Given the description of an element on the screen output the (x, y) to click on. 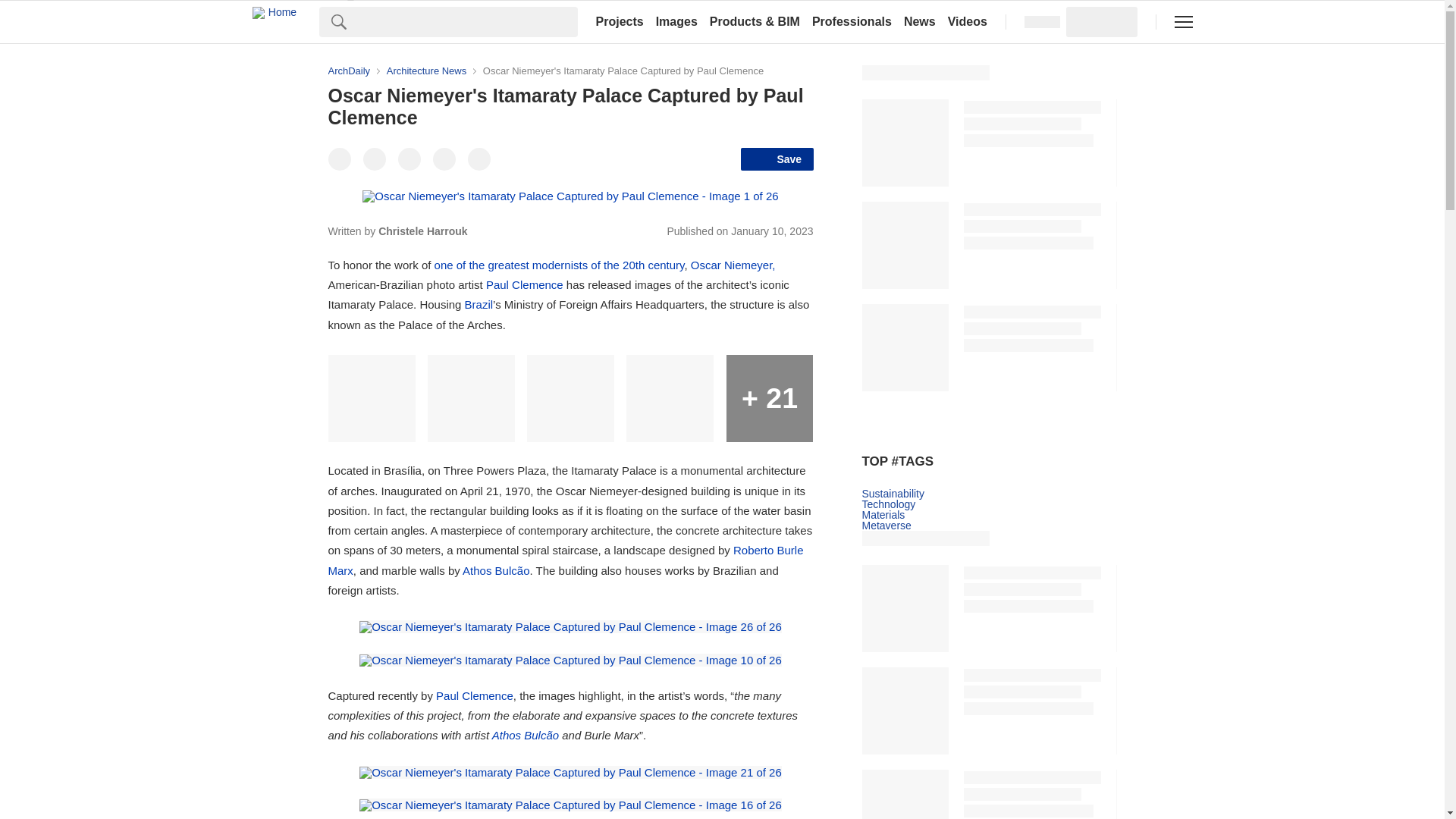
Images (676, 21)
Videos (967, 21)
Professionals (852, 21)
News (920, 21)
Projects (619, 21)
